Given the description of an element on the screen output the (x, y) to click on. 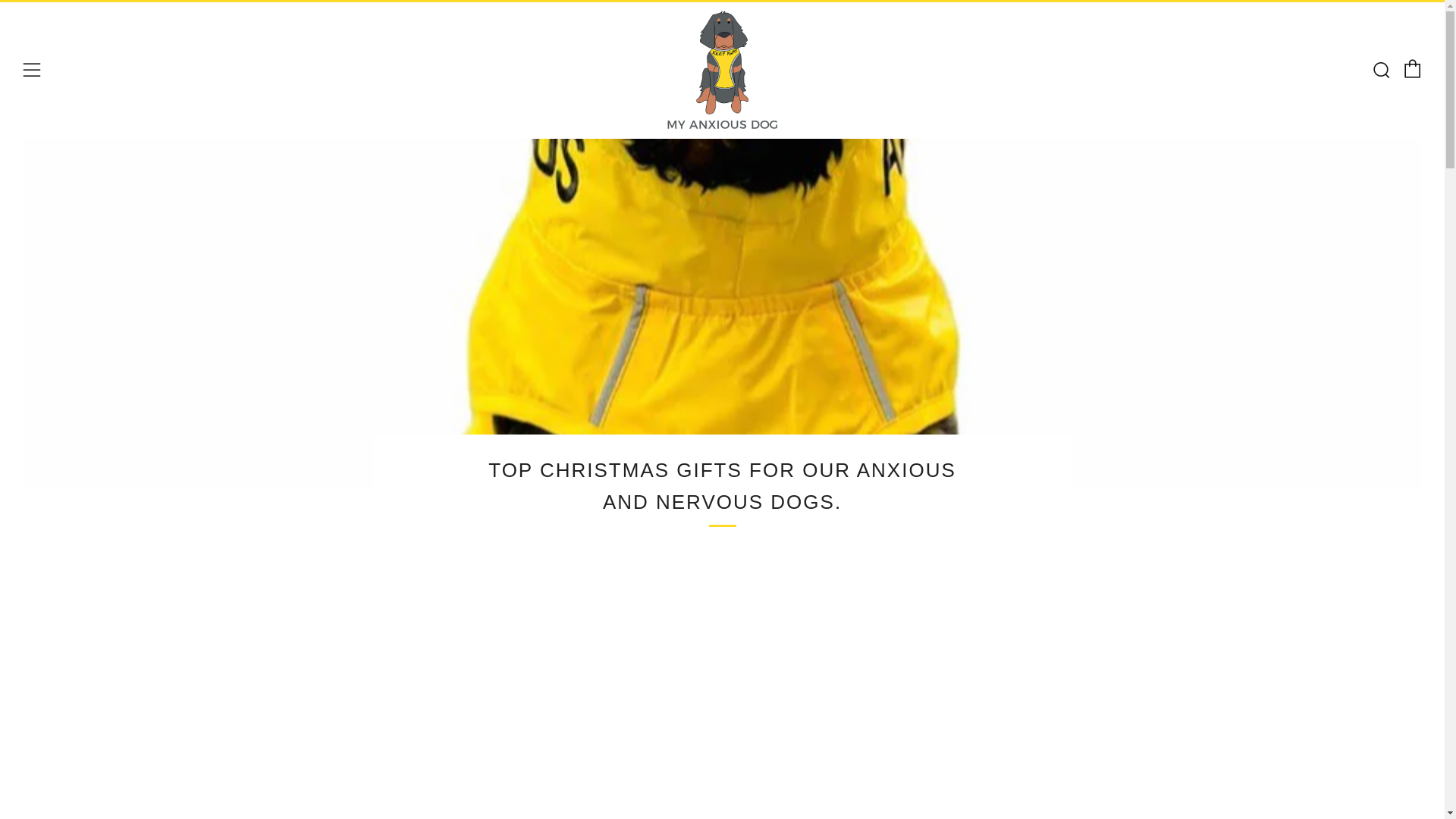
Menu (31, 70)
Search (1380, 69)
Cart (1412, 68)
